Given the description of an element on the screen output the (x, y) to click on. 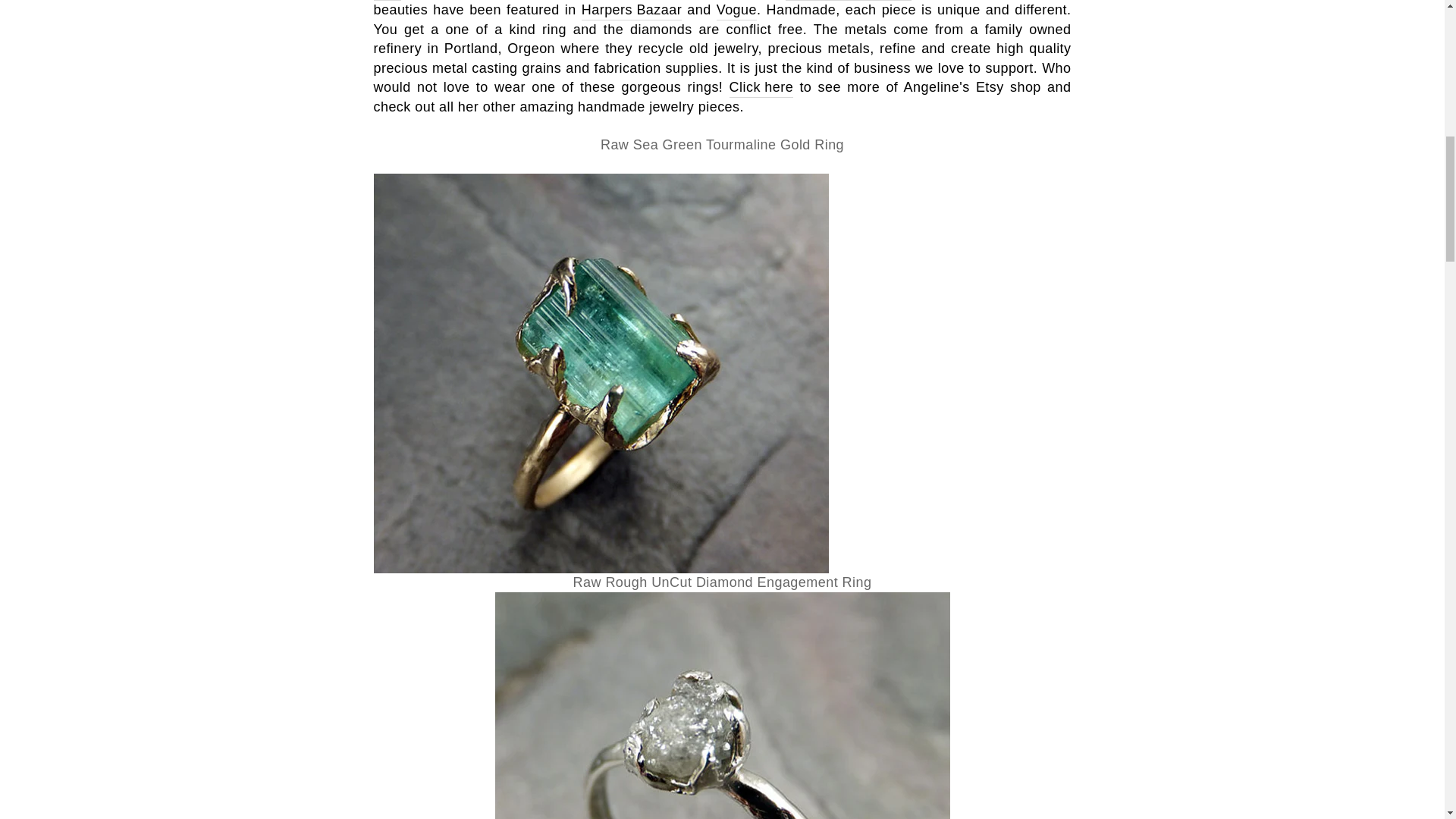
By Angeline (630, 10)
By Angeline (736, 10)
By Angeline (761, 87)
